Given the description of an element on the screen output the (x, y) to click on. 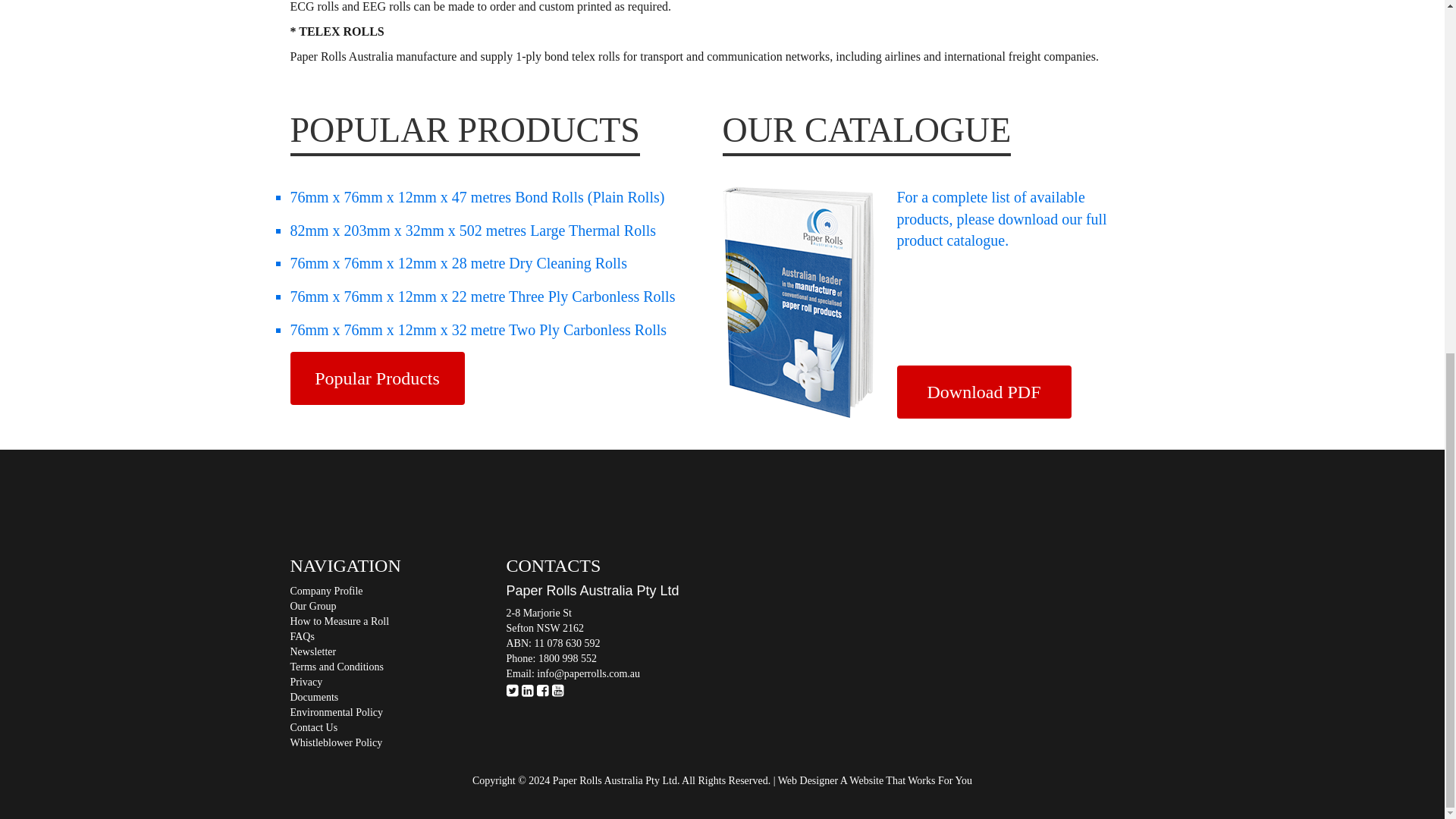
Terms and Conditions (397, 667)
Documents (397, 697)
Company Profile (397, 590)
82mm x 203mm x 32mm x 502 metres Large Thermal Rolls (472, 230)
Whistleblower Policy (397, 743)
76mm x 76mm x 12mm x 32 metre Two Ply Carbonless Rolls (477, 329)
76mm x 76mm x 12mm x 28 metre Dry Cleaning Rolls (457, 262)
Privacy (397, 682)
Newsletter (397, 652)
Our Group (397, 606)
